Given the description of an element on the screen output the (x, y) to click on. 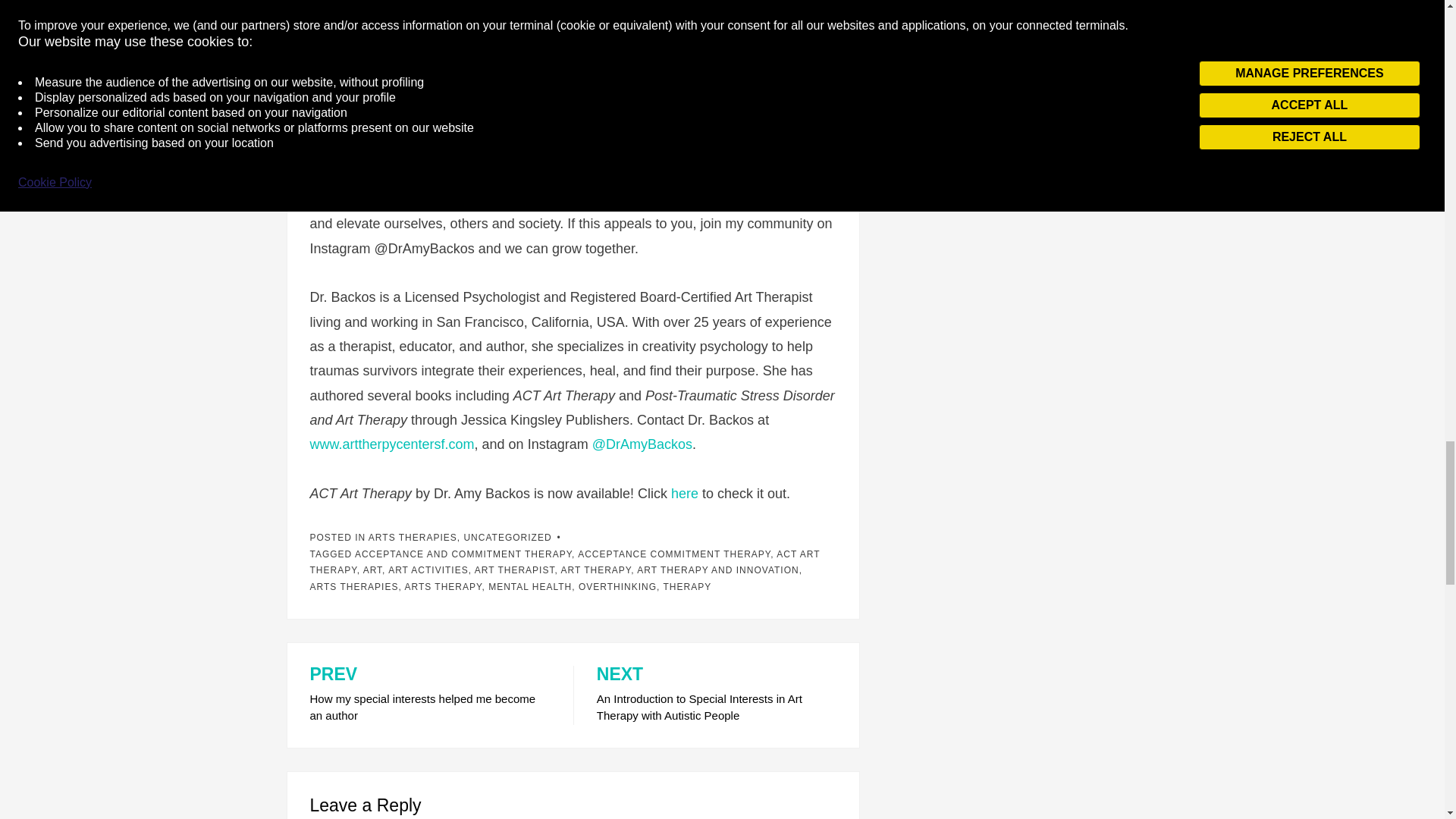
www.arttherpycentersf.com (391, 444)
